Given the description of an element on the screen output the (x, y) to click on. 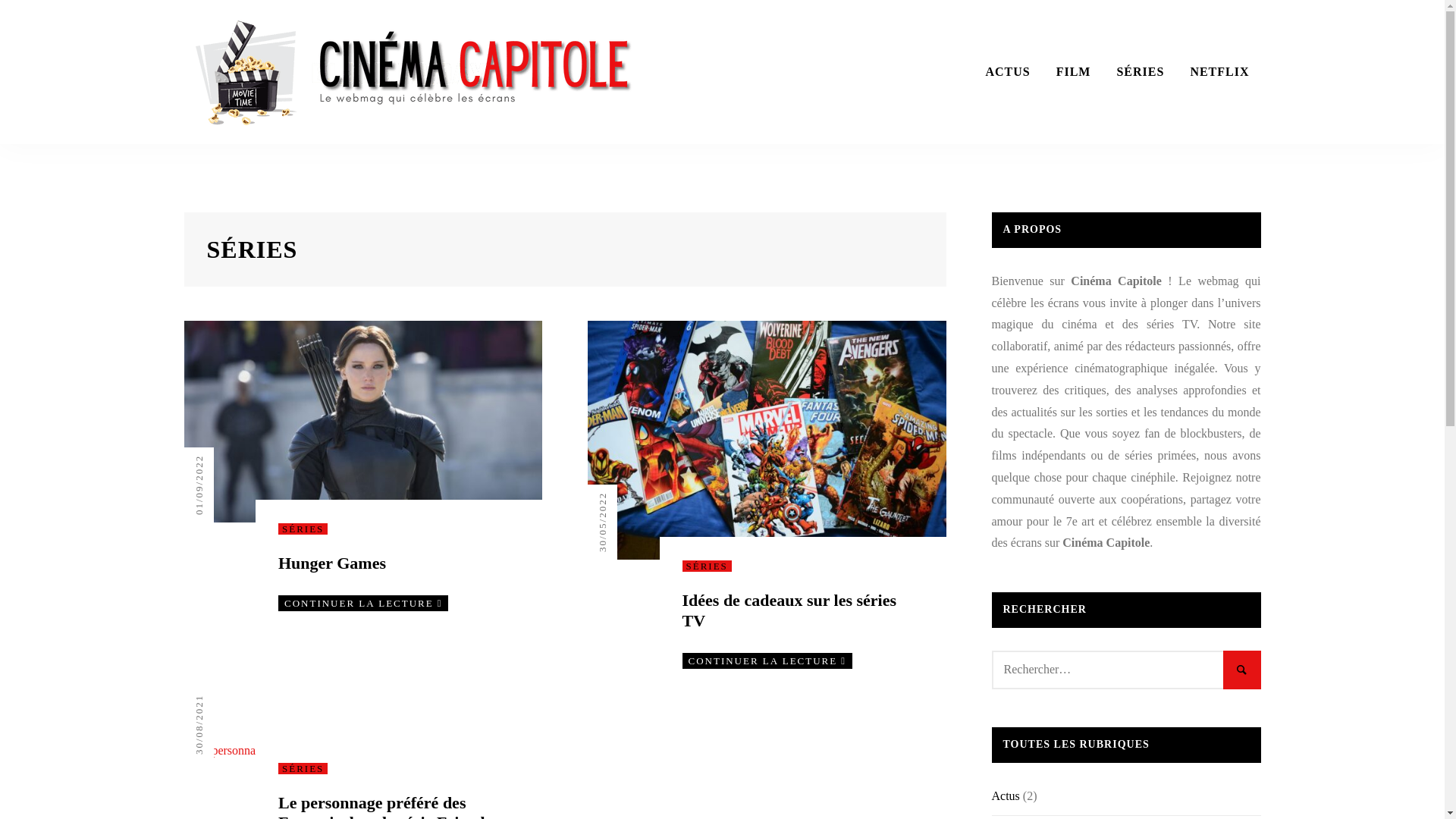
FILM Element type: text (1073, 72)
CONTINUER LA LECTURE Element type: text (767, 660)
NETFLIX Element type: text (1218, 72)
Hunger Games Element type: text (331, 562)
ACTUS Element type: text (1007, 72)
Actus Element type: text (1005, 795)
01/09/2022 Element type: text (222, 459)
30/08/2021 Element type: text (222, 700)
Rechercher Element type: text (1241, 669)
CONTINUER LA LECTURE Element type: text (363, 603)
30/05/2022 Element type: text (626, 497)
